Given the description of an element on the screen output the (x, y) to click on. 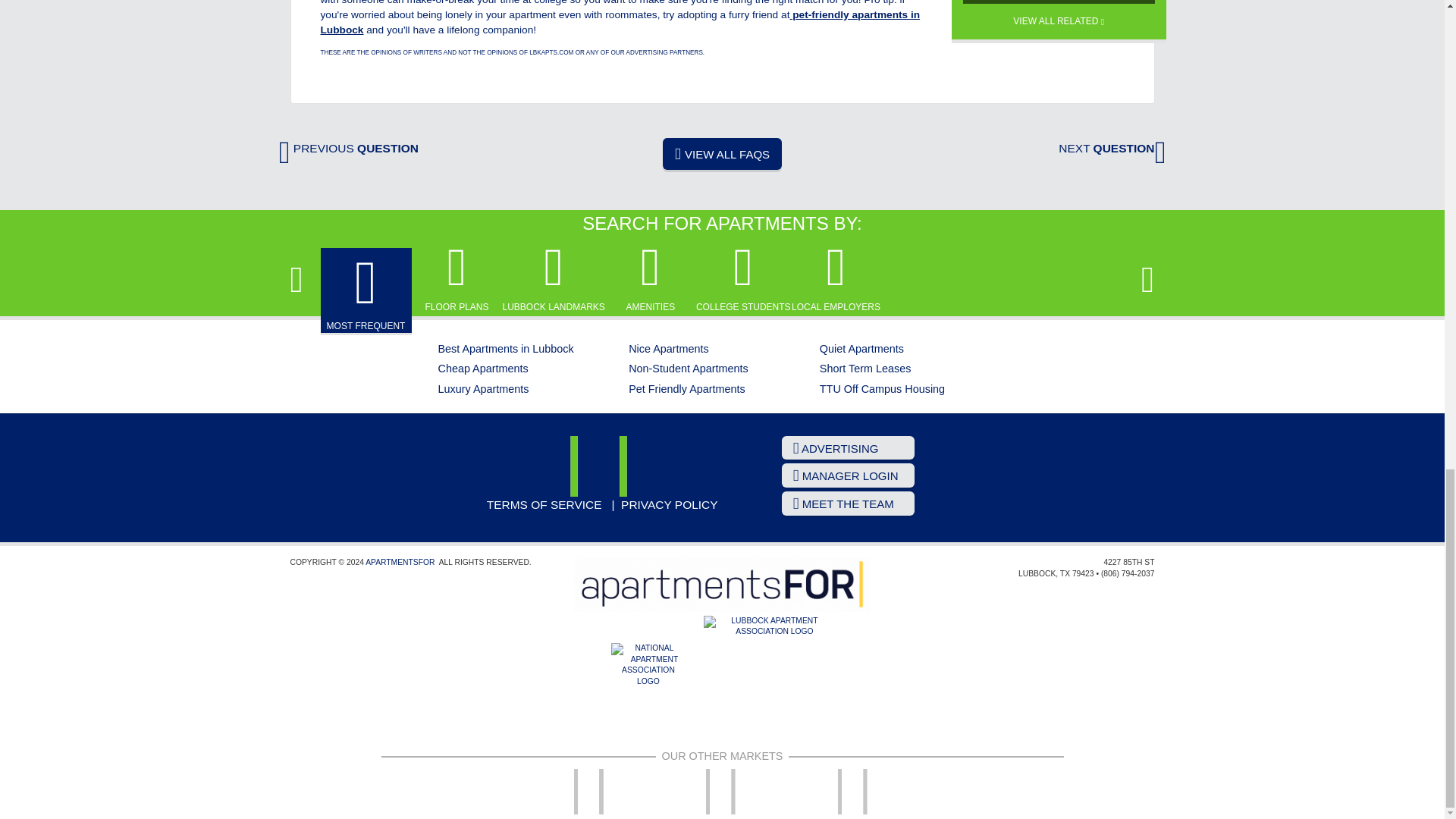
AMENITIES (650, 276)
 VIEW ALL FAQS (721, 153)
MOST FREQUENT (365, 291)
COLLEGE STUDENTS (742, 276)
 PREVIOUS QUESTION (349, 147)
LUBBOCK LANDMARKS (553, 276)
VIEW ALL RELATED  (1058, 15)
Lubbock, TX Apartments (601, 465)
NEXT QUESTION (1112, 147)
pet-friendly apartments in Lubbock (620, 22)
See Pet Friendly Apartments in Lubbock! (620, 22)
FLOOR PLANS (456, 276)
